Given the description of an element on the screen output the (x, y) to click on. 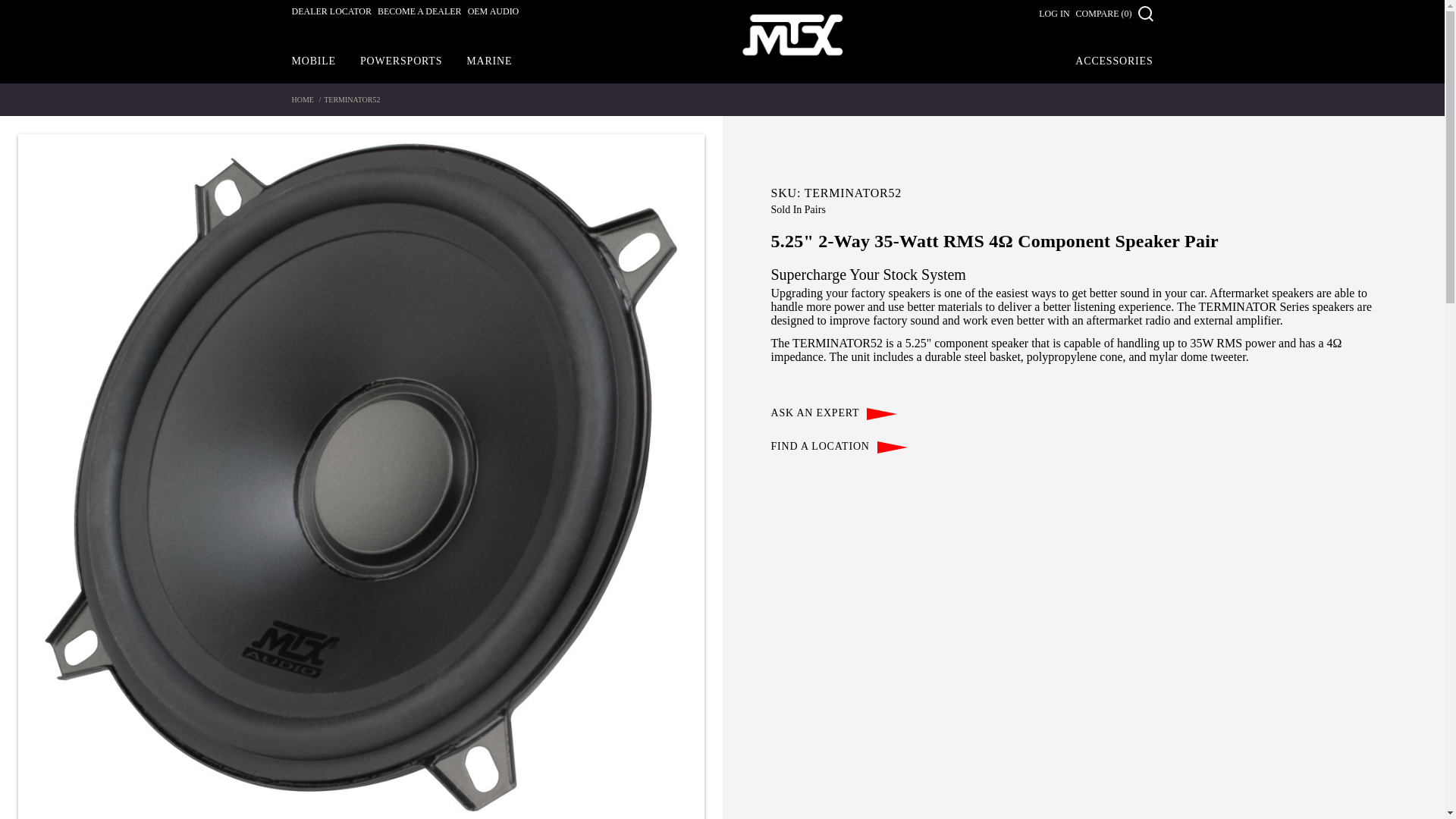
OEM AUDIO (493, 15)
MTX International (793, 34)
MOBILE (312, 61)
LOG IN (1053, 13)
BECOME A DEALER (419, 15)
DEALER LOCATOR (331, 15)
